Given the description of an element on the screen output the (x, y) to click on. 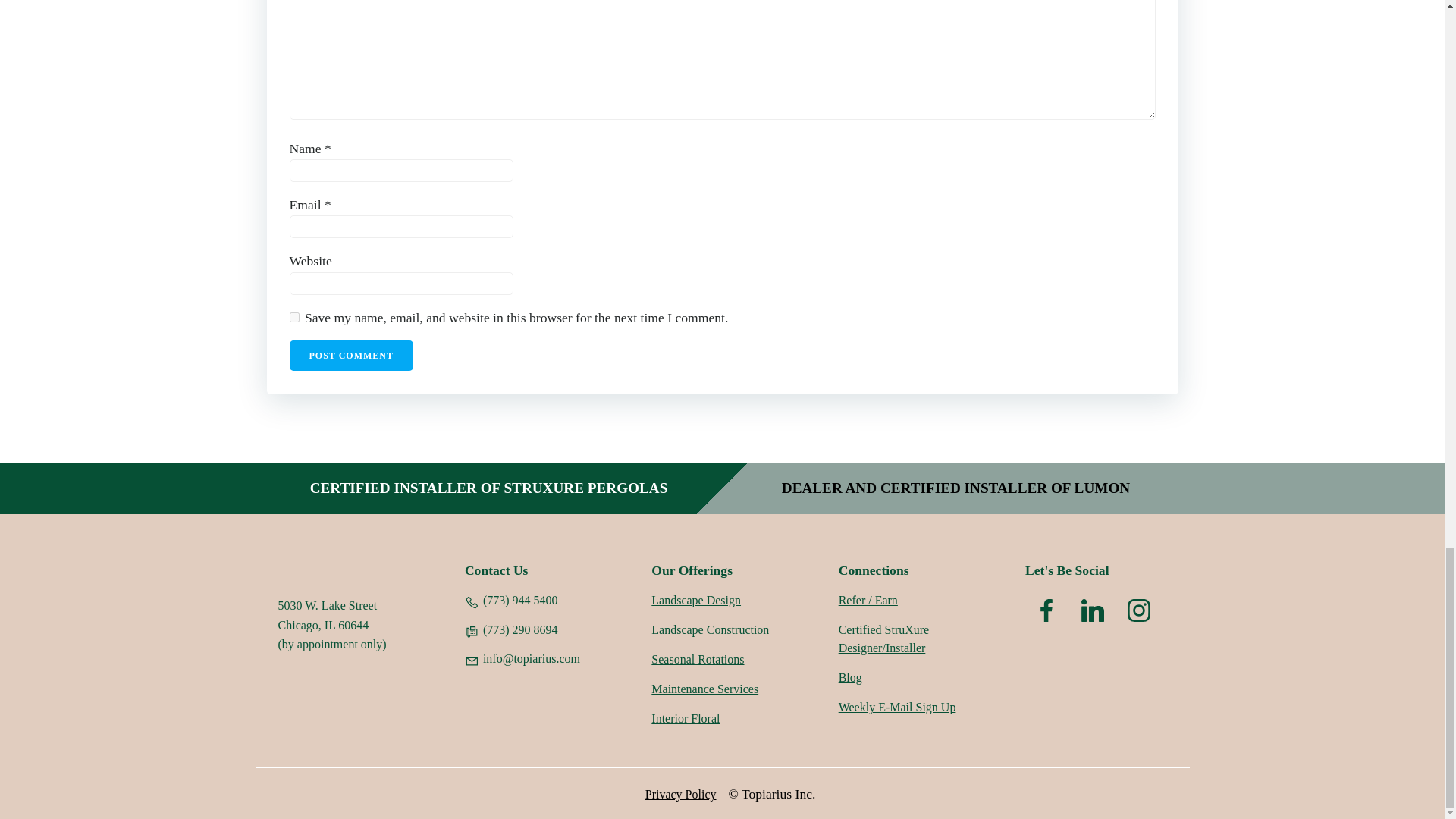
yes (294, 317)
Post Comment (351, 355)
